Given the description of an element on the screen output the (x, y) to click on. 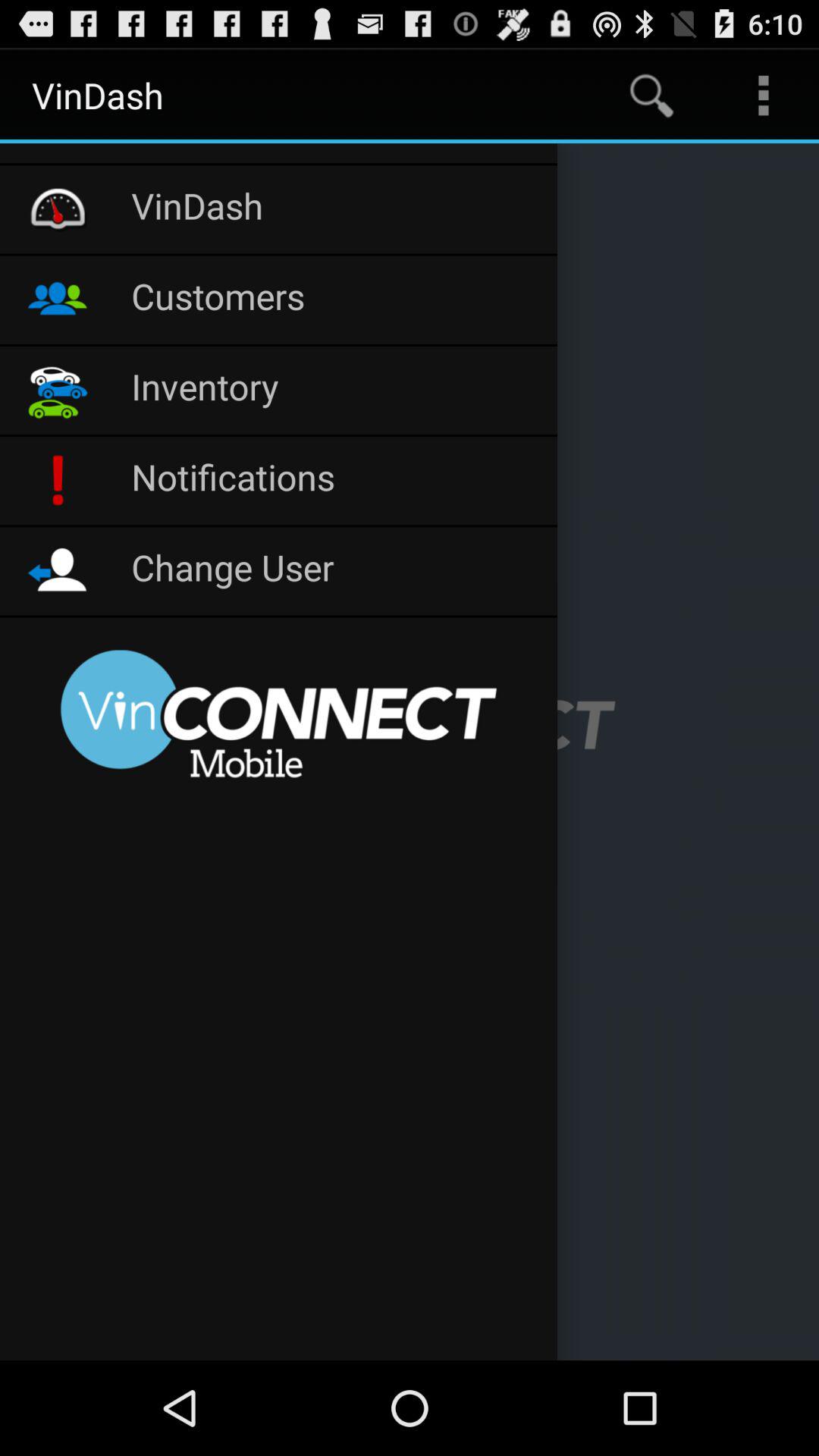
turn on app above the change user item (336, 480)
